Given the description of an element on the screen output the (x, y) to click on. 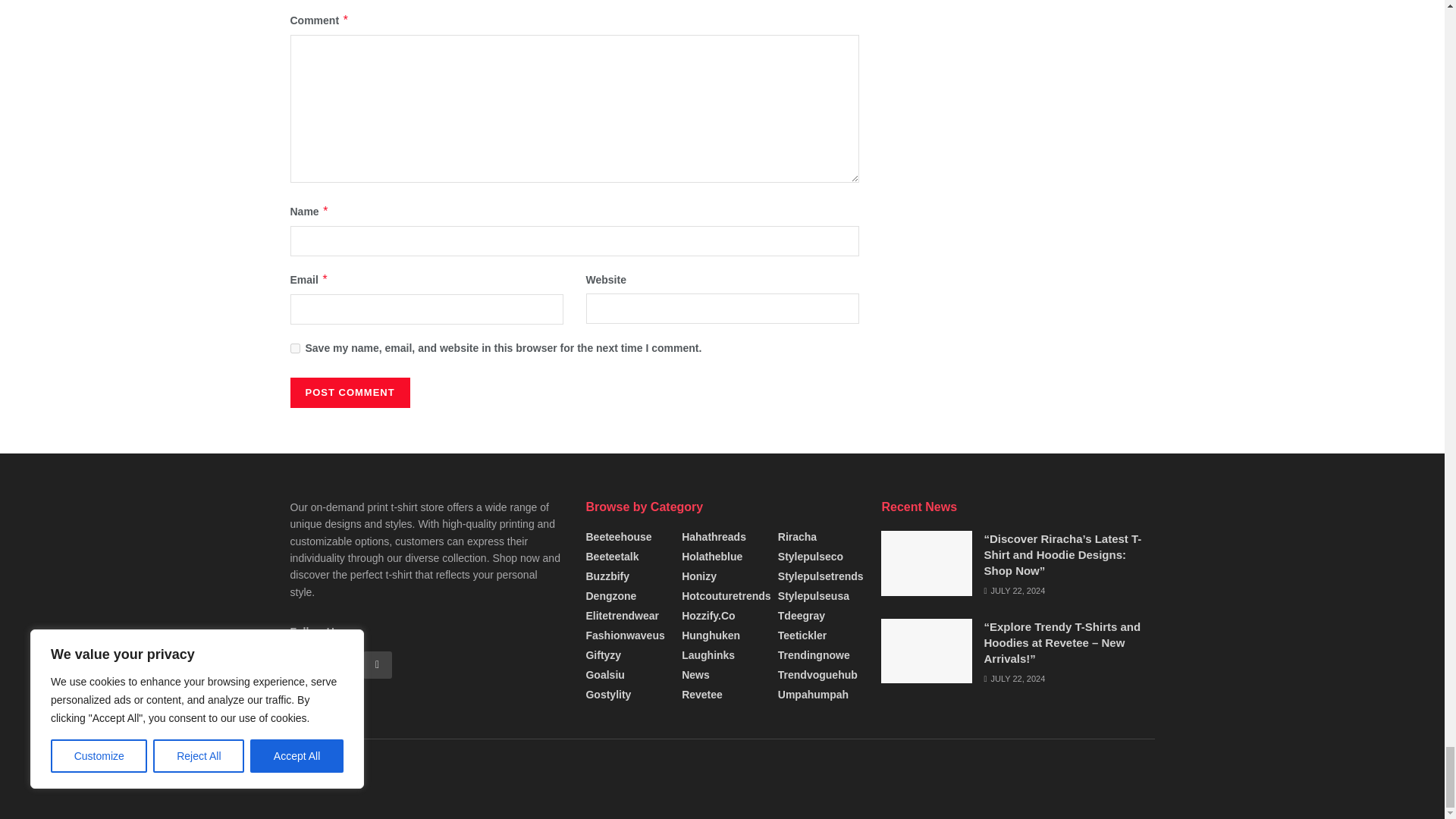
Post Comment (349, 392)
yes (294, 347)
